Given the description of an element on the screen output the (x, y) to click on. 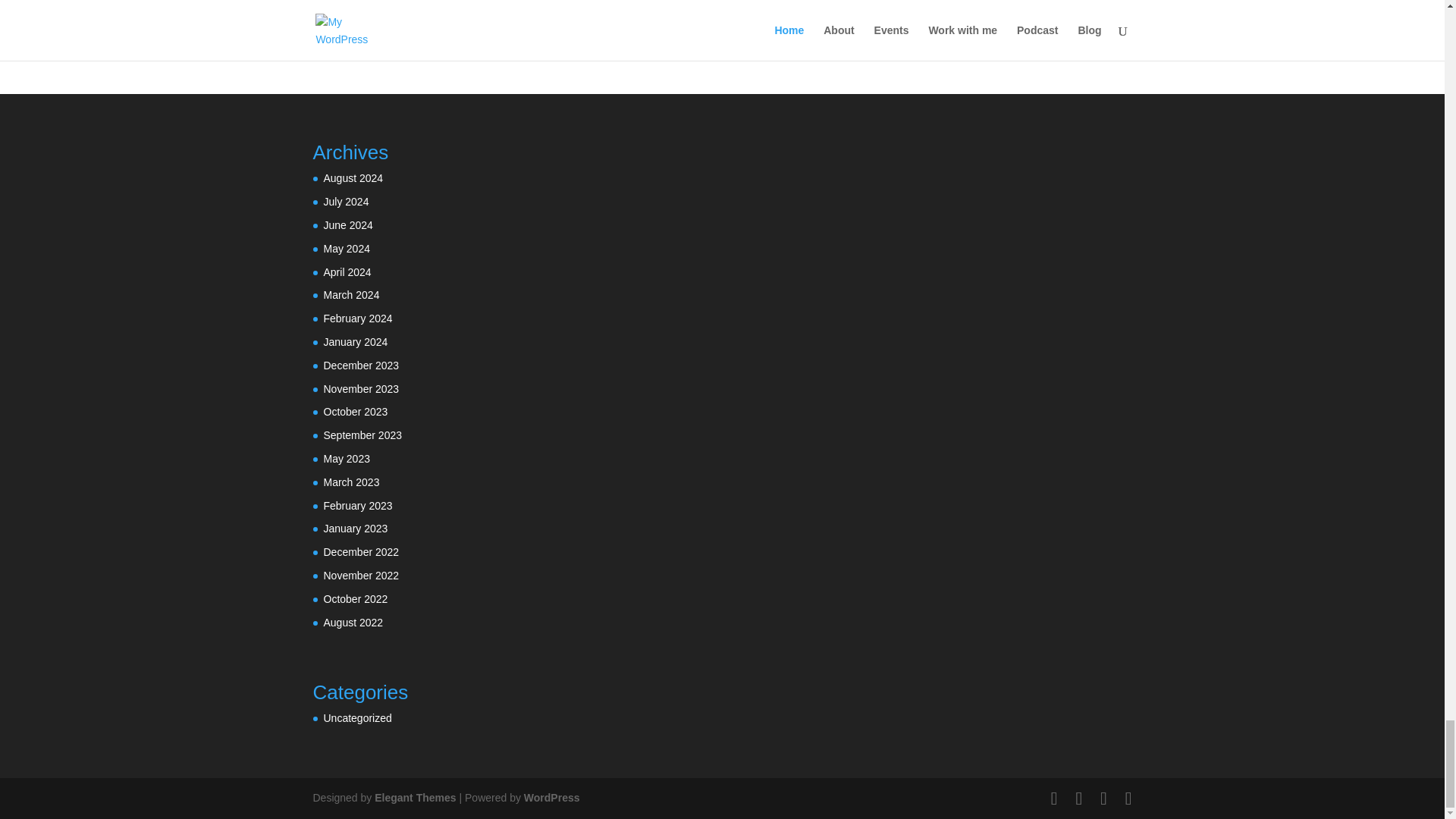
January 2023 (355, 528)
December 2022 (360, 551)
February 2023 (357, 505)
August 2022 (352, 622)
April 2024 (347, 272)
November 2023 (360, 388)
March 2024 (350, 295)
March 2023 (350, 481)
June 2024 (347, 224)
July 2024 (345, 201)
